Given the description of an element on the screen output the (x, y) to click on. 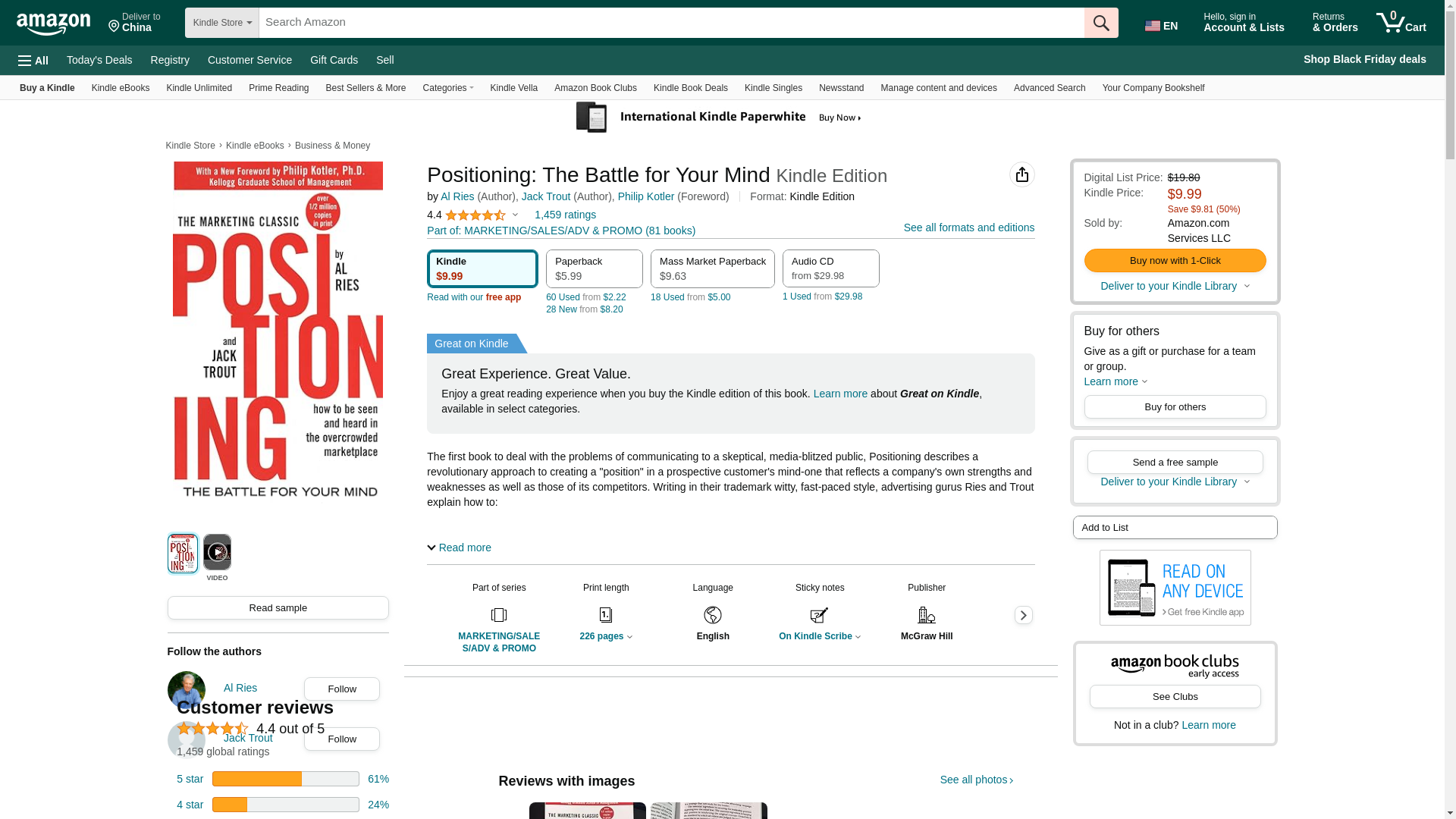
Kindle Store Element type: text (189, 145)
Learn more Element type: text (1208, 724)
28 New from $8.20 Element type: text (584, 309)
Shop Black Friday deals Element type: text (1364, 59)
Buy now with 1-Click Element type: text (1174, 260)
Jack Trout Element type: text (546, 196)
Kindle Unlimited Element type: text (198, 87)
Add to List Element type: text (1175, 527)
Newsstand Element type: text (841, 87)
Paperback
$5.99 Element type: text (594, 268)
Share Element type: hover (1022, 174)
Al Ries Element type: text (240, 689)
Registry Element type: text (169, 59)
Gift Cards Element type: text (334, 59)
Returns
& Orders Element type: text (1335, 22)
Send a free sample Element type: text (1174, 462)
Hello, sign in
Account & Lists Element type: text (1248, 22)
Read sample Element type: text (278, 607)
4 star Element type: text (189, 804)
All Element type: text (33, 60)
Best Sellers & More Element type: text (365, 87)
EN Element type: text (1163, 22)
Amazon Book Clubs Element type: text (595, 87)
Follow Element type: text (341, 738)
Kindle Singles Element type: text (773, 87)
Today's Deals Element type: text (99, 59)
Categories Element type: text (448, 87)
60 Used from $2.22 Element type: text (585, 296)
Kindle
$9.99 Element type: text (482, 268)
Al Ries Element type: text (456, 196)
Audio CD
from $29.98 Element type: text (830, 268)
Sell Element type: text (384, 59)
Prime Reading Element type: text (278, 87)
Learn more Element type: text (840, 393)
Go Element type: text (1101, 22)
226 pages Element type: text (605, 635)
Kindle eBooks Element type: text (254, 145)
Skip to main content Element type: text (60, 20)
Follow Element type: text (341, 688)
Manage content and devices Element type: text (938, 87)
Read more Element type: text (458, 547)
On Kindle Scribe Element type: text (819, 635)
Business & Money Element type: text (332, 145)
4.4 Element type: text (471, 214)
Kindle Vella Element type: text (514, 87)
1 Used from $29.98 Element type: text (822, 296)
24% Element type: text (378, 804)
Deliver to your Kindle Library Element type: text (1174, 481)
Learn more Element type: text (1116, 381)
0
Cart Element type: text (1401, 22)
18 Used from $5.00 Element type: text (690, 296)
Deliver to your Kindle Library Element type: text (1174, 285)
Buy a Kindle Element type: text (47, 87)
See all photos Element type: text (977, 779)
Mass Market Paperback
$9.63 Element type: text (712, 268)
Kindle Book Deals Element type: text (690, 87)
See all formats and editions Element type: text (969, 227)
5 star Element type: text (189, 778)
Your Company Bookshelf Element type: text (1153, 87)
Deliver to
China Element type: text (134, 22)
1,459 ratings Element type: text (565, 214)
Advanced Search Element type: text (1049, 87)
Buy for others Element type: text (1174, 406)
Part of: MARKETING/SALES/ADV & PROMO (81 books) Element type: text (560, 230)
61% Element type: text (378, 778)
Philip Kotler Element type: text (646, 196)
Kindle eBooks Element type: text (120, 87)
MARKETING/SALES/ADV & PROMO Element type: text (498, 641)
Customer Service Element type: text (249, 59)
Jack Trout Element type: text (248, 739)
